Given the description of an element on the screen output the (x, y) to click on. 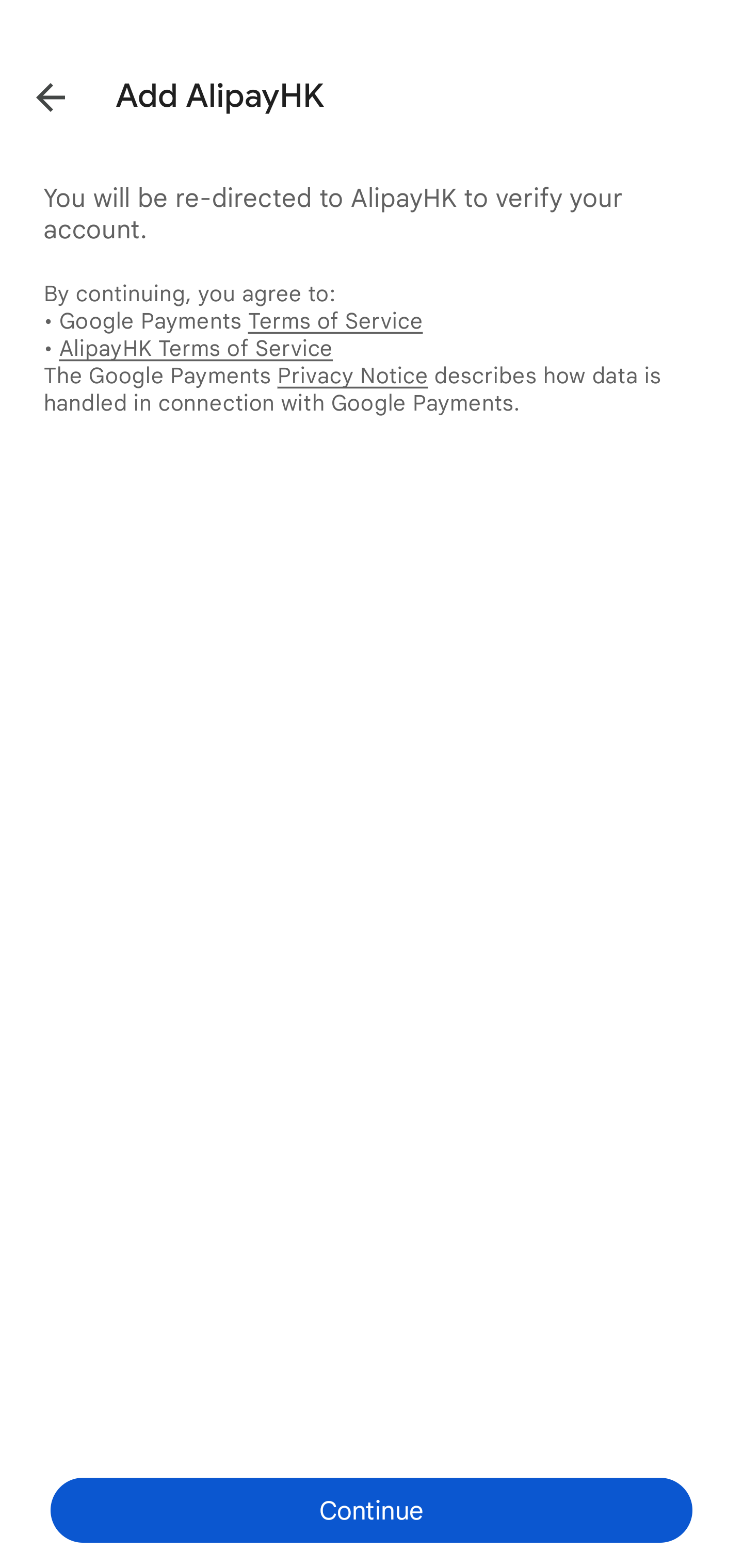
Back (36, 94)
Terms of Service (334, 320)
AlipayHK Terms of Service (195, 347)
Privacy Notice (352, 375)
Continue (371, 1510)
